Given the description of an element on the screen output the (x, y) to click on. 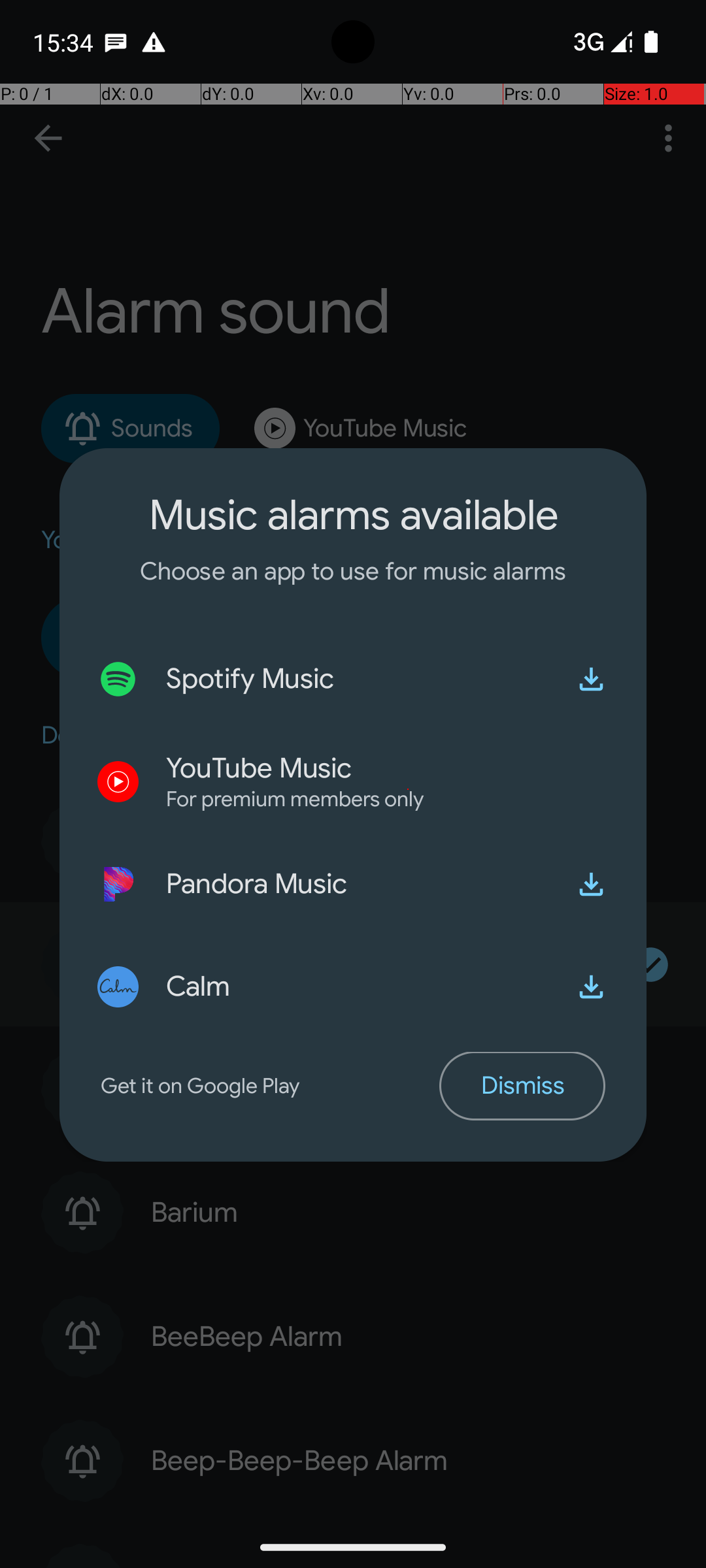
Music alarms available Element type: android.widget.TextView (352, 515)
Choose an app to use for music alarms Element type: android.widget.TextView (352, 570)
Get it on Google Play Element type: android.widget.TextView (269, 1085)
Dismiss Element type: android.widget.Button (522, 1085)
Spotify Music Element type: android.widget.TextView (249, 678)
YouTube Music Element type: android.widget.TextView (258, 767)
For premium members only Element type: android.widget.TextView (294, 798)
Pandora Music Element type: android.widget.TextView (256, 883)
Calm Element type: android.widget.TextView (198, 986)
